Given the description of an element on the screen output the (x, y) to click on. 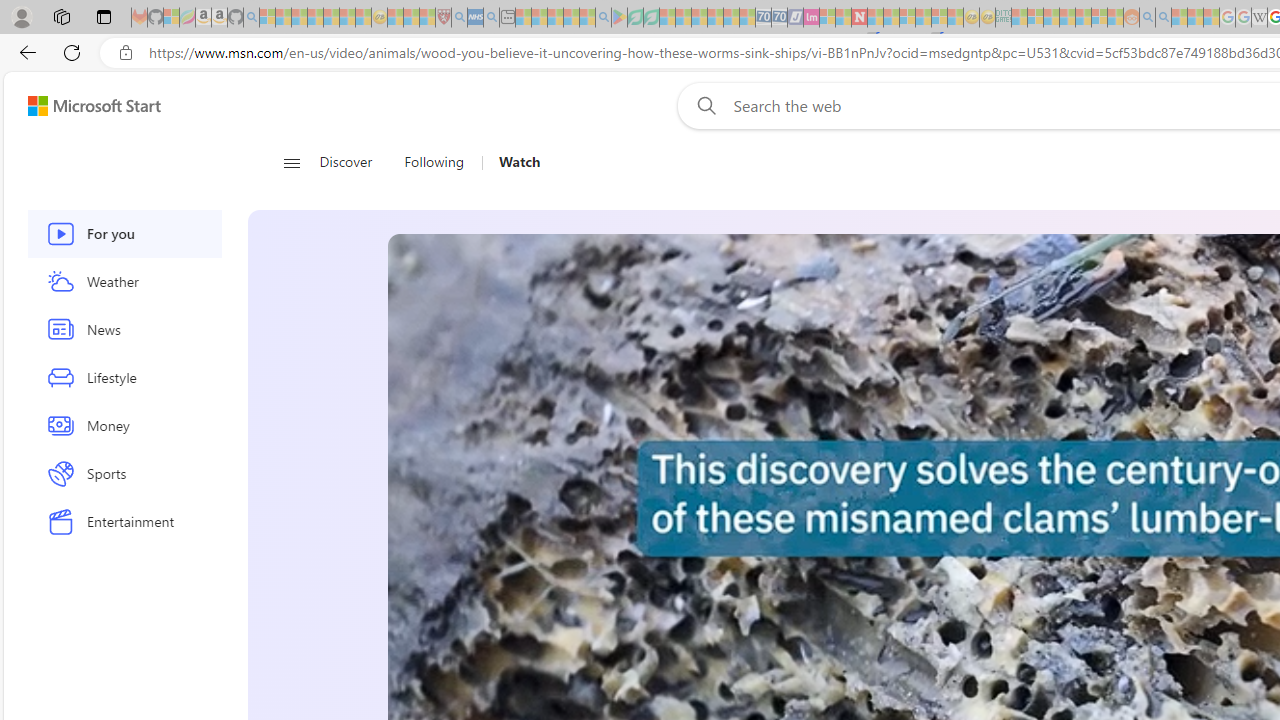
Skip to content (86, 105)
utah sues federal government - Search - Sleeping (491, 17)
Microsoft account | Privacy - Sleeping (1035, 17)
google - Search - Sleeping (603, 17)
Pets - MSN - Sleeping (571, 17)
Cheap Hotels - Save70.com - Sleeping (779, 17)
MSNBC - MSN - Sleeping (1019, 17)
